Given the description of an element on the screen output the (x, y) to click on. 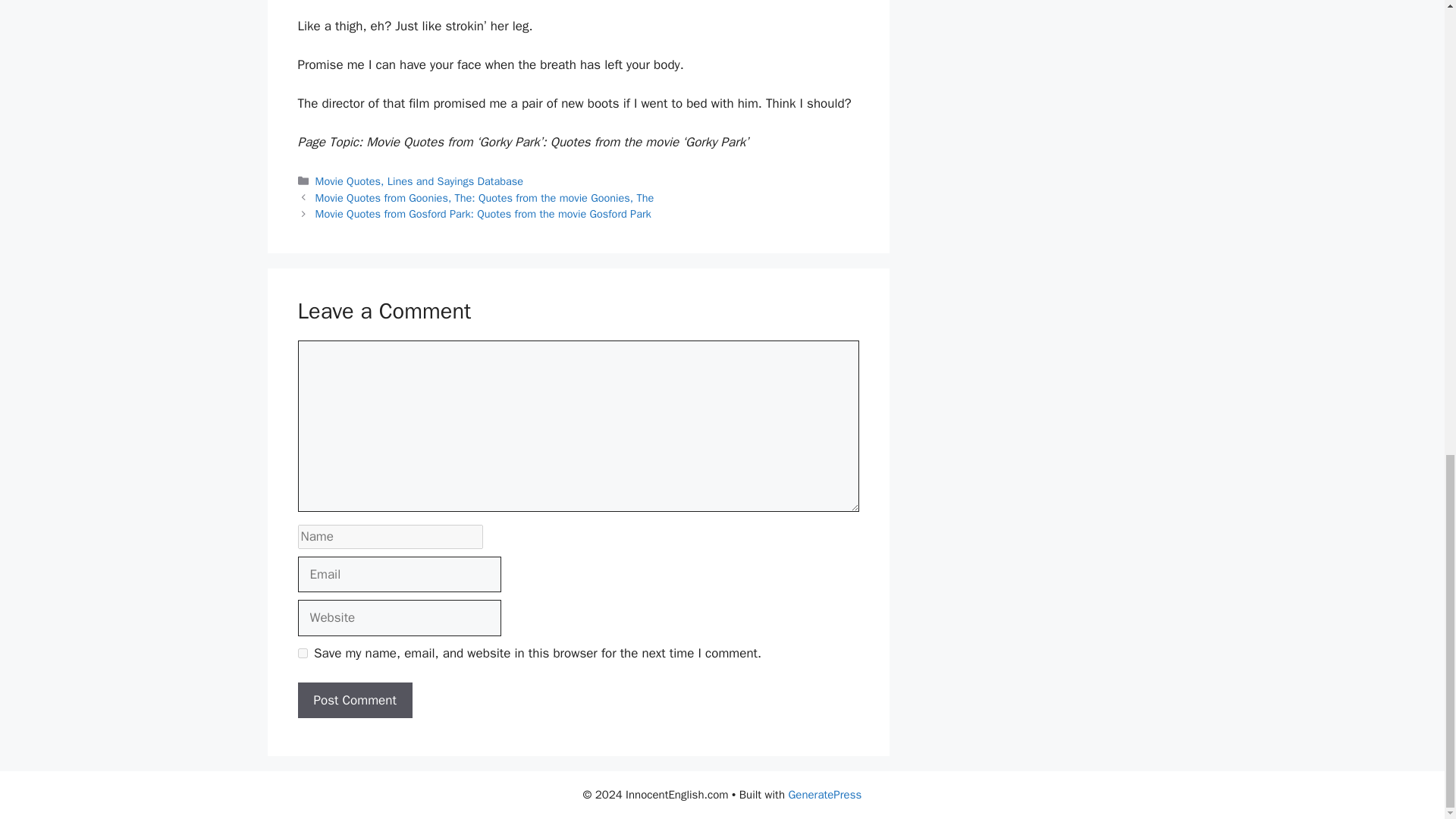
GeneratePress (824, 794)
Movie Quotes, Lines and Sayings Database (419, 181)
yes (302, 653)
Post Comment (354, 700)
Post Comment (354, 700)
